Given the description of an element on the screen output the (x, y) to click on. 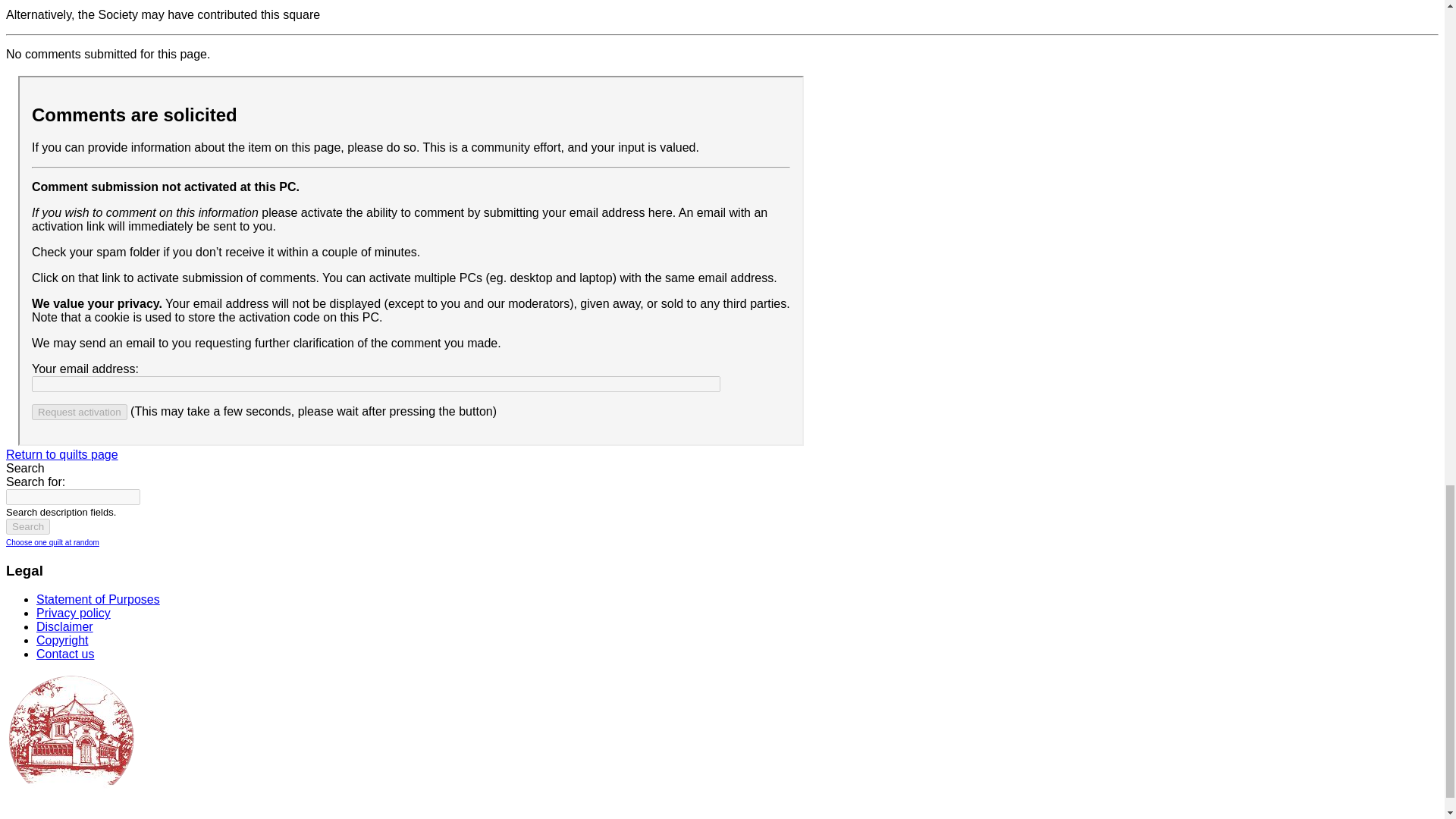
Contact us (65, 653)
Statement of Purposes (98, 599)
Privacy policy (73, 612)
Click to return to Heidelberg Historical Society home page (70, 737)
Search (27, 526)
Copyright (61, 640)
Choose one quilt at random (52, 542)
Search (27, 526)
Request activation (80, 412)
Request activation (80, 412)
